Given the description of an element on the screen output the (x, y) to click on. 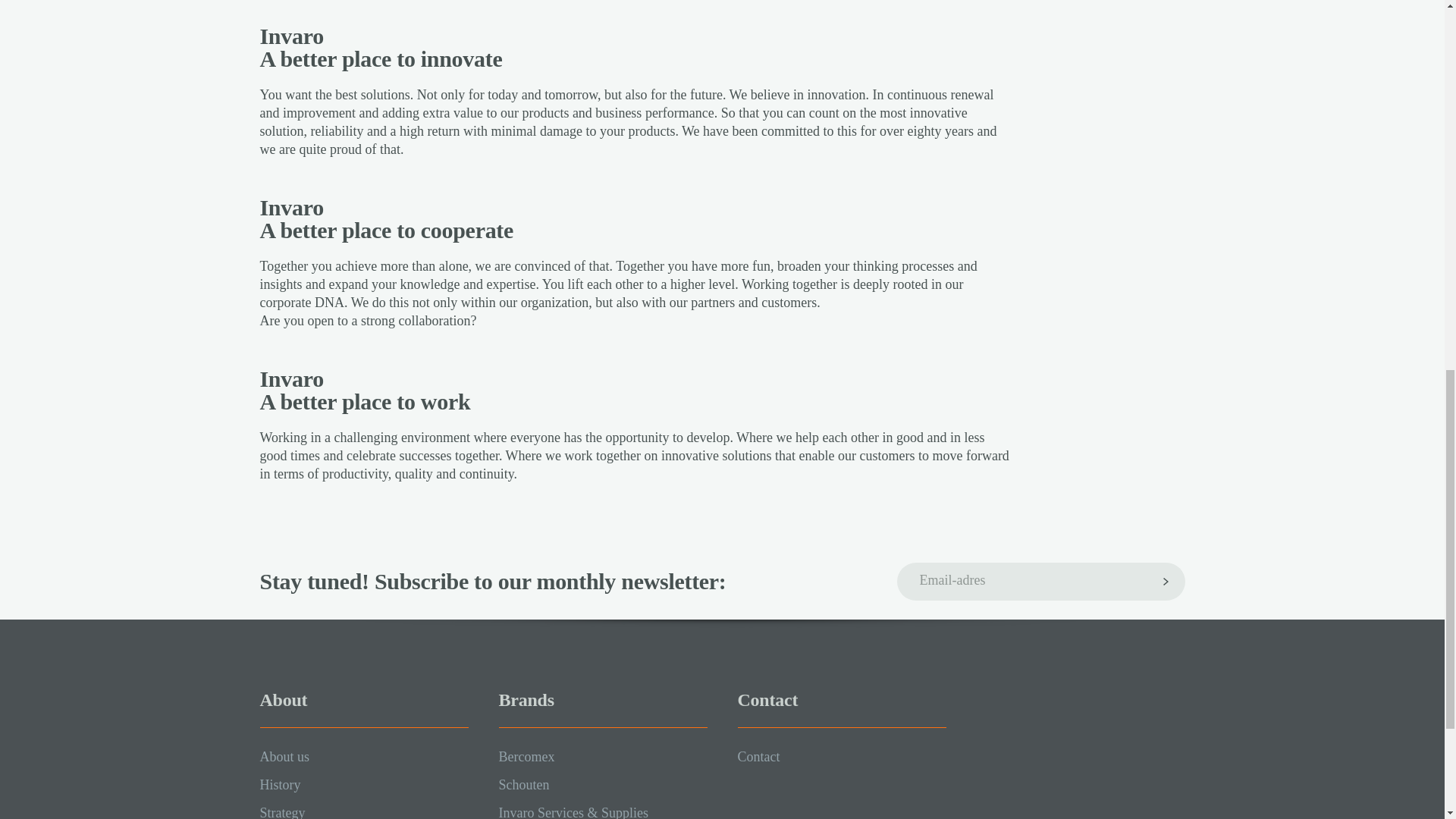
Strategy (281, 812)
History (279, 784)
Bercomex (526, 756)
Sign up (1166, 581)
Schouten (524, 784)
Sign up (1166, 581)
About us (283, 756)
Contact (757, 756)
